Given the description of an element on the screen output the (x, y) to click on. 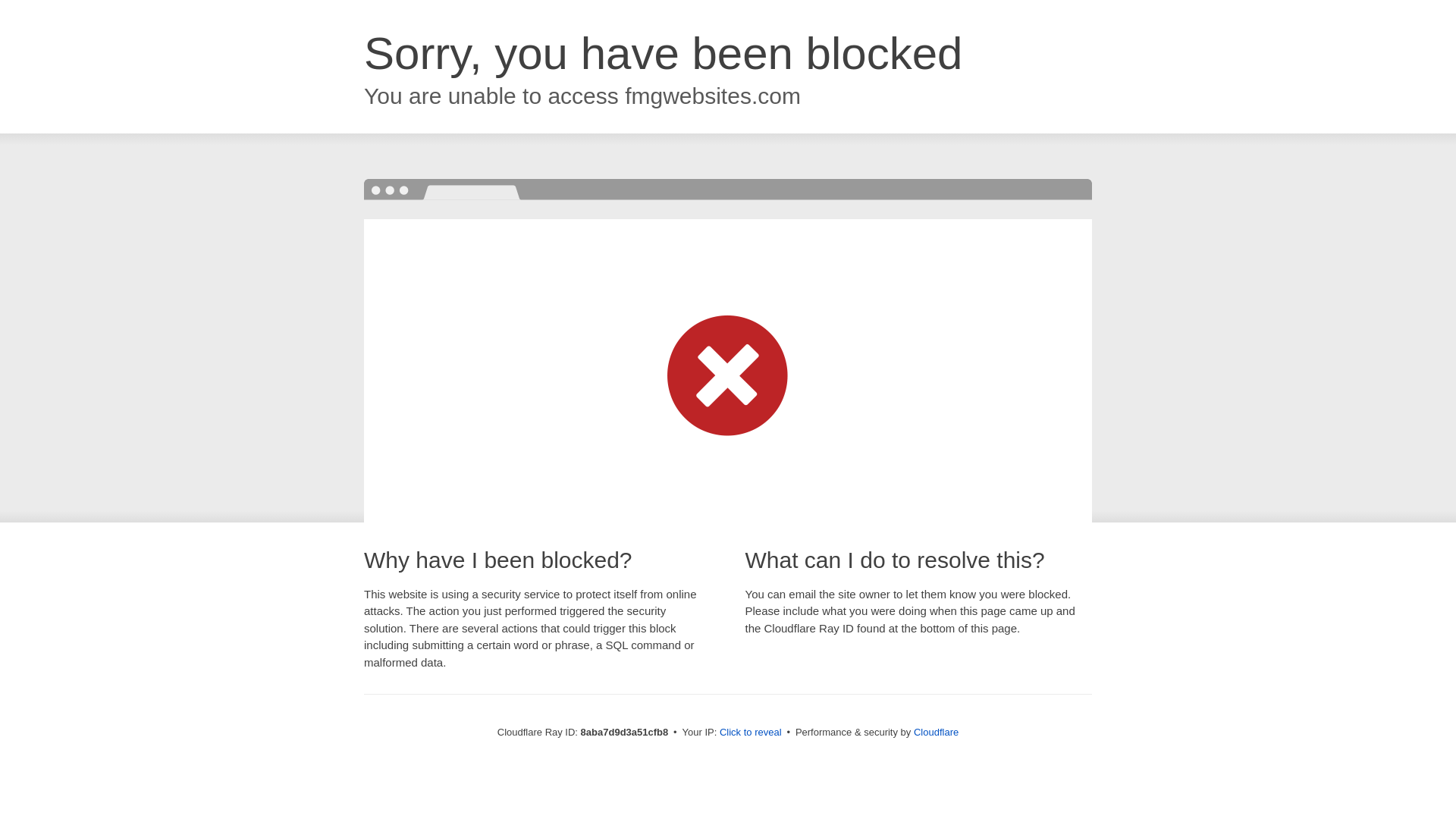
Cloudflare (936, 731)
Click to reveal (750, 732)
